Given the description of an element on the screen output the (x, y) to click on. 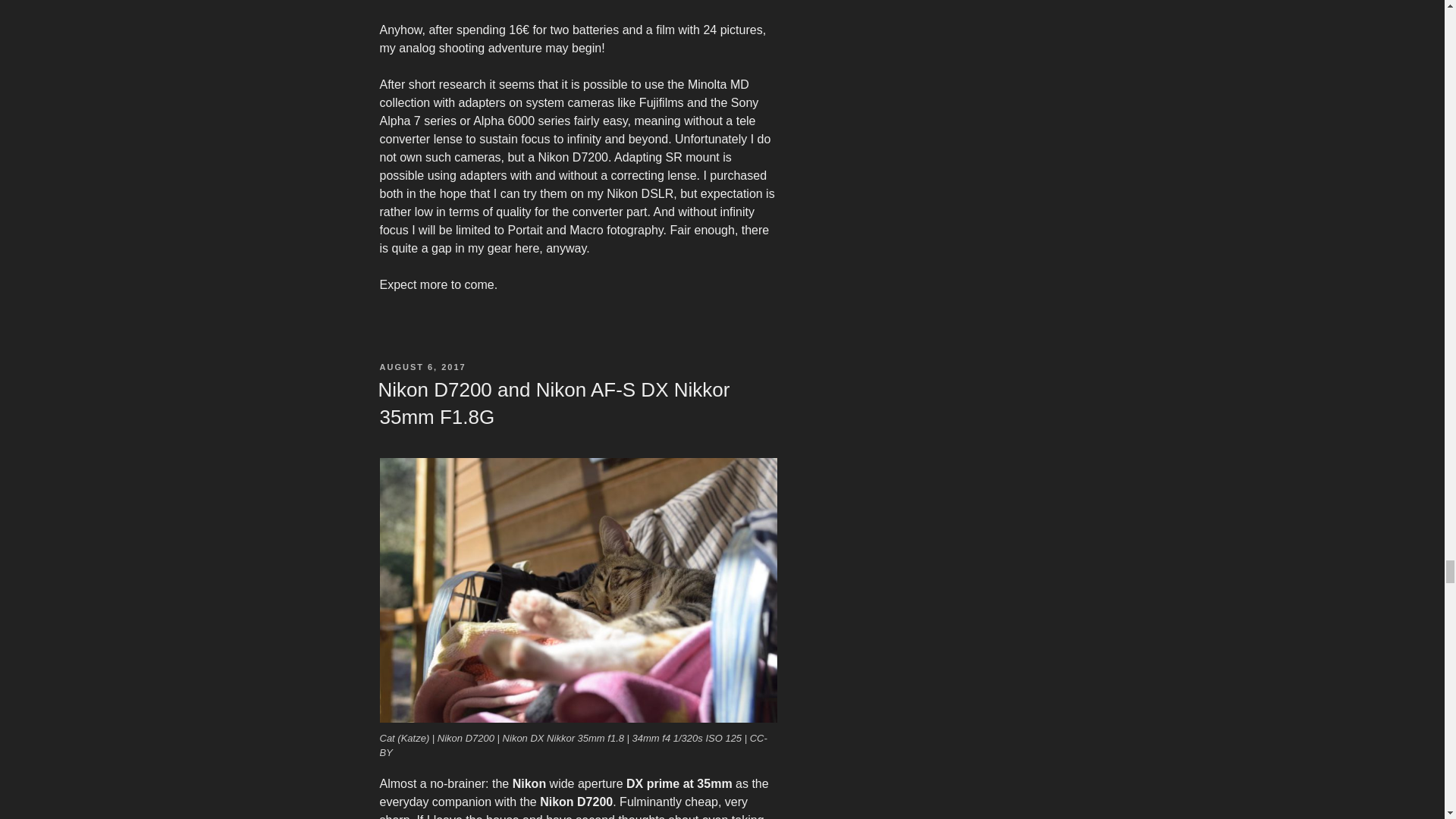
Nikon D7200 and Nikon AF-S DX Nikkor 35mm F1.8G (553, 403)
AUGUST 6, 2017 (421, 366)
